Given the description of an element on the screen output the (x, y) to click on. 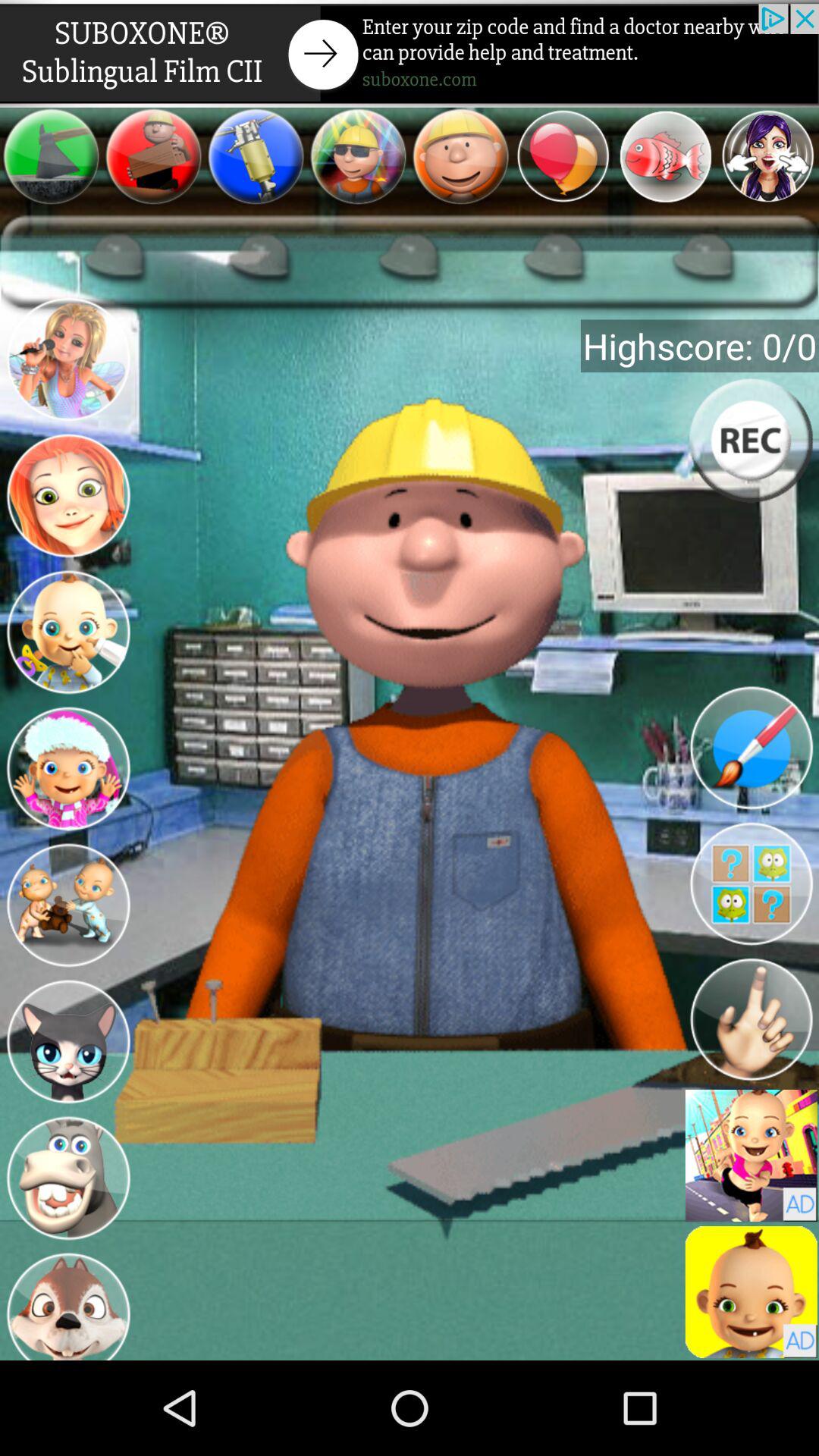
select new character s (68, 905)
